Given the description of an element on the screen output the (x, y) to click on. 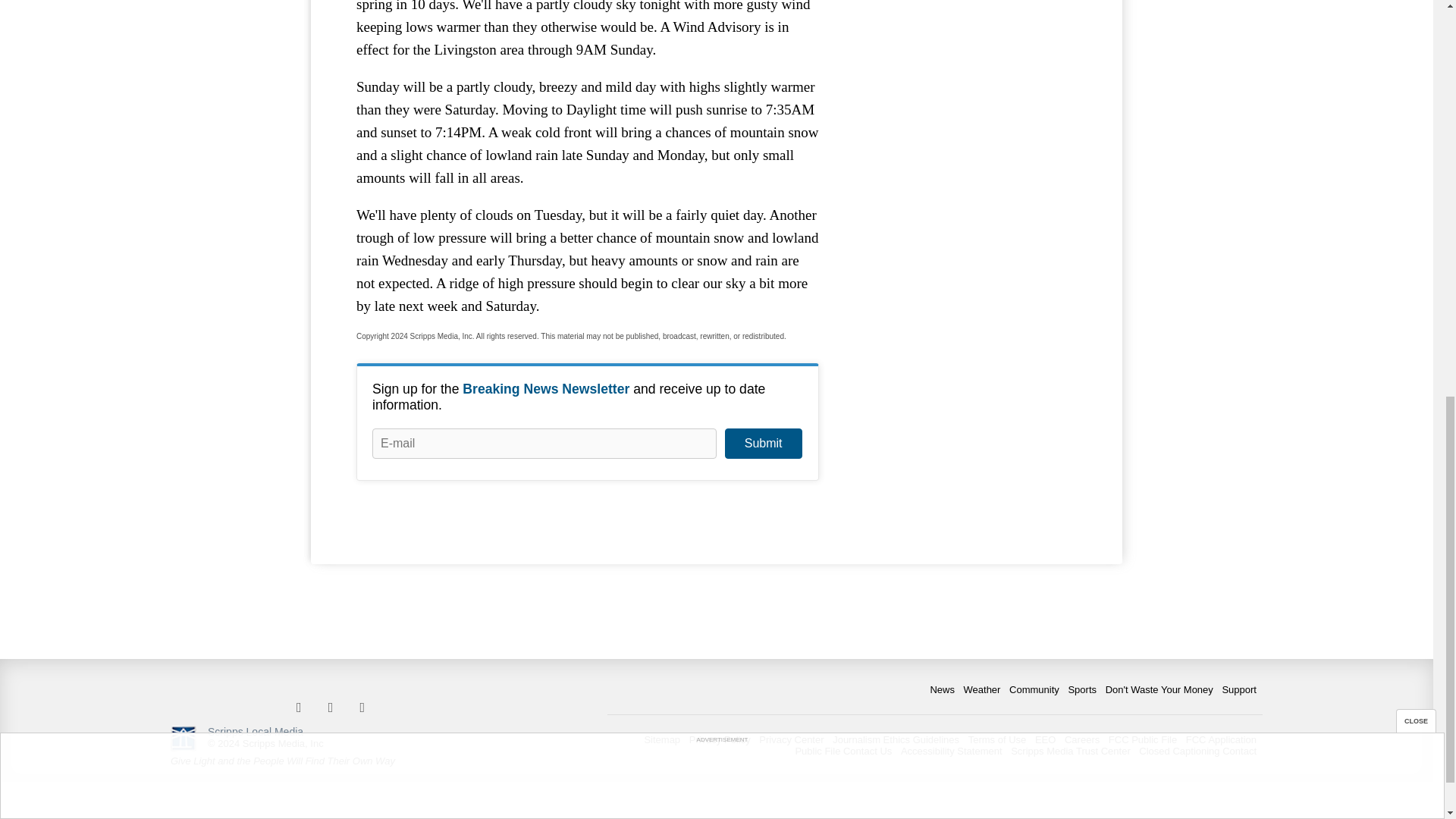
Submit (763, 443)
